Given the description of an element on the screen output the (x, y) to click on. 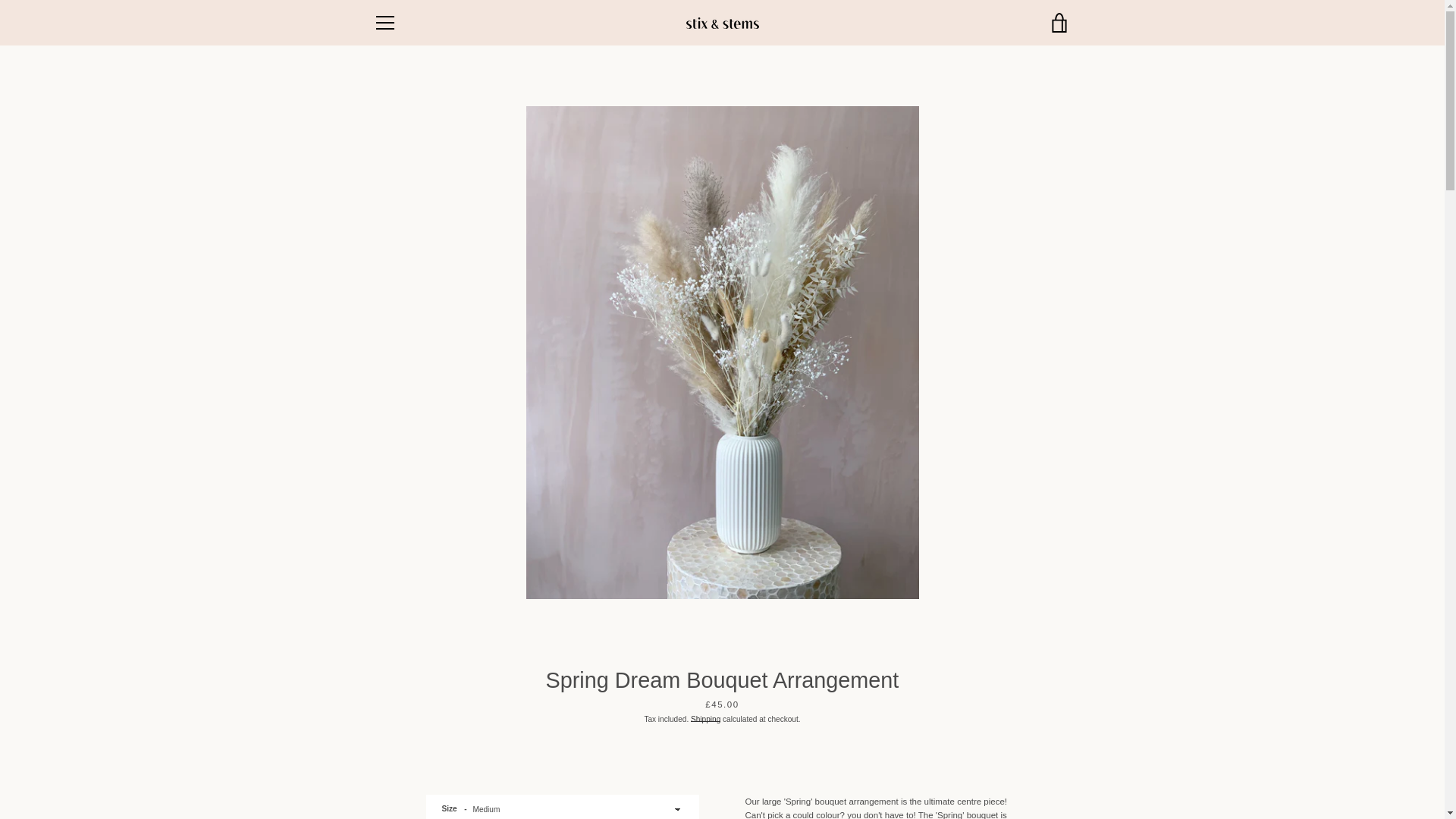
Apple Pay (918, 755)
Maestro (1057, 755)
Google Pay (1022, 755)
Discover (988, 755)
Shipping (705, 718)
Diners Club (953, 755)
Mastercard (918, 778)
MENU (384, 22)
American Express (883, 755)
VIEW CART (1059, 22)
Union Pay (1022, 778)
PayPal (953, 778)
Shop Pay (988, 778)
Visa (1057, 778)
